Given the description of an element on the screen output the (x, y) to click on. 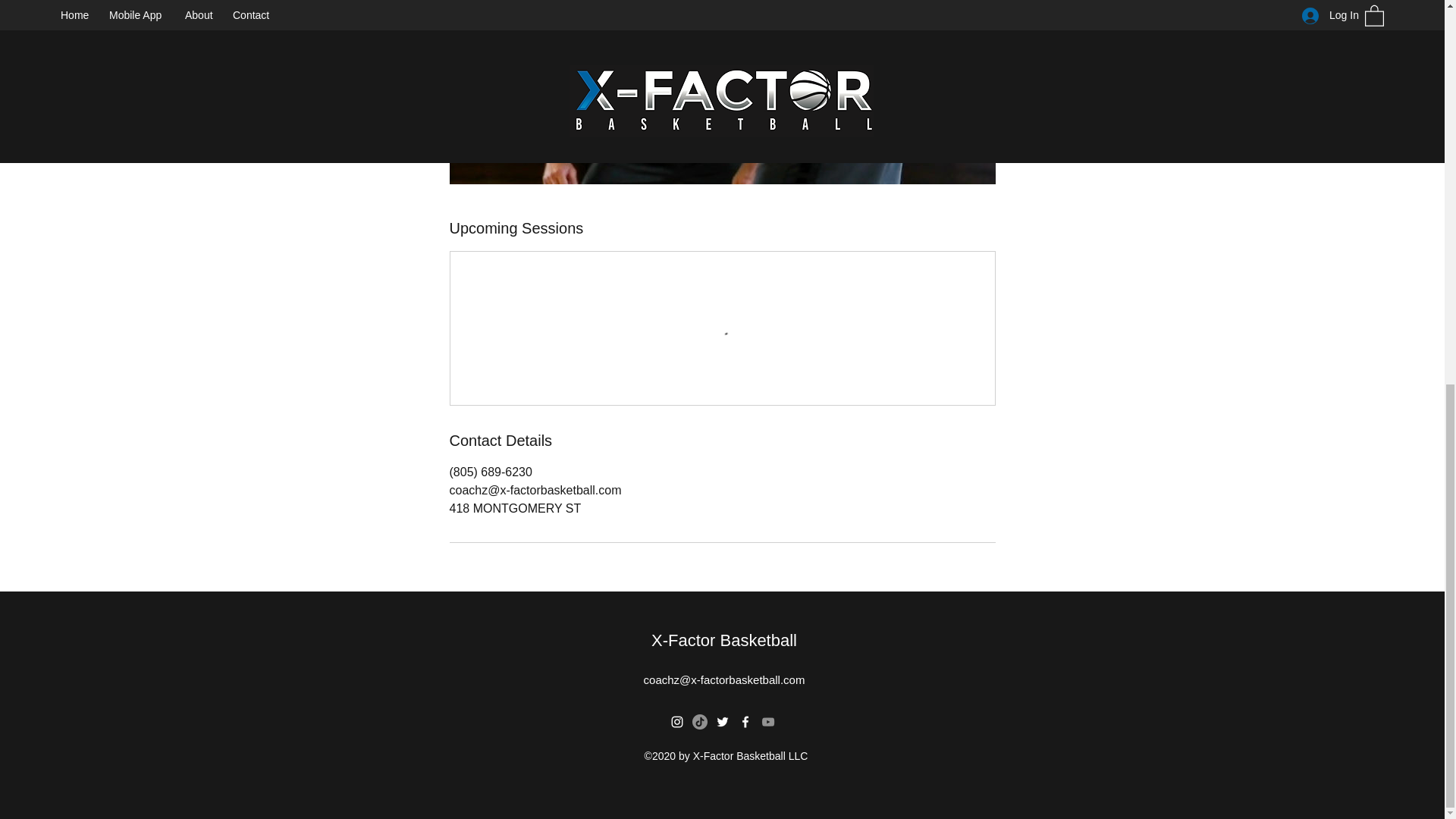
X-Factor Basketball (723, 640)
